Given the description of an element on the screen output the (x, y) to click on. 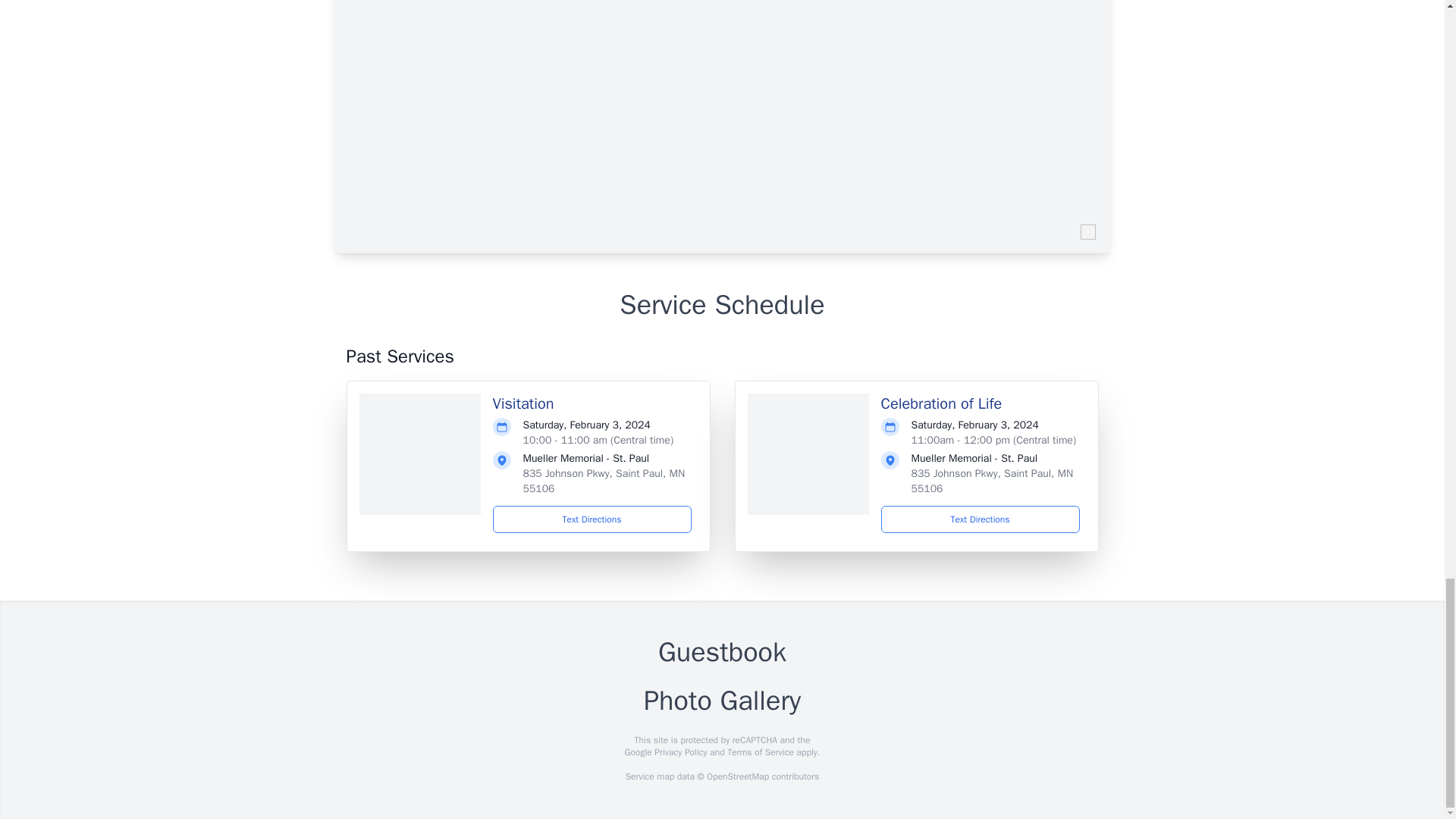
OpenStreetMap (737, 776)
835 Johnson Pkwy, Saint Paul, MN 55106 (603, 480)
Text Directions (980, 519)
835 Johnson Pkwy, Saint Paul, MN 55106 (992, 480)
Privacy Policy (679, 752)
Text Directions (592, 519)
Terms of Service (759, 752)
